Given the description of an element on the screen output the (x, y) to click on. 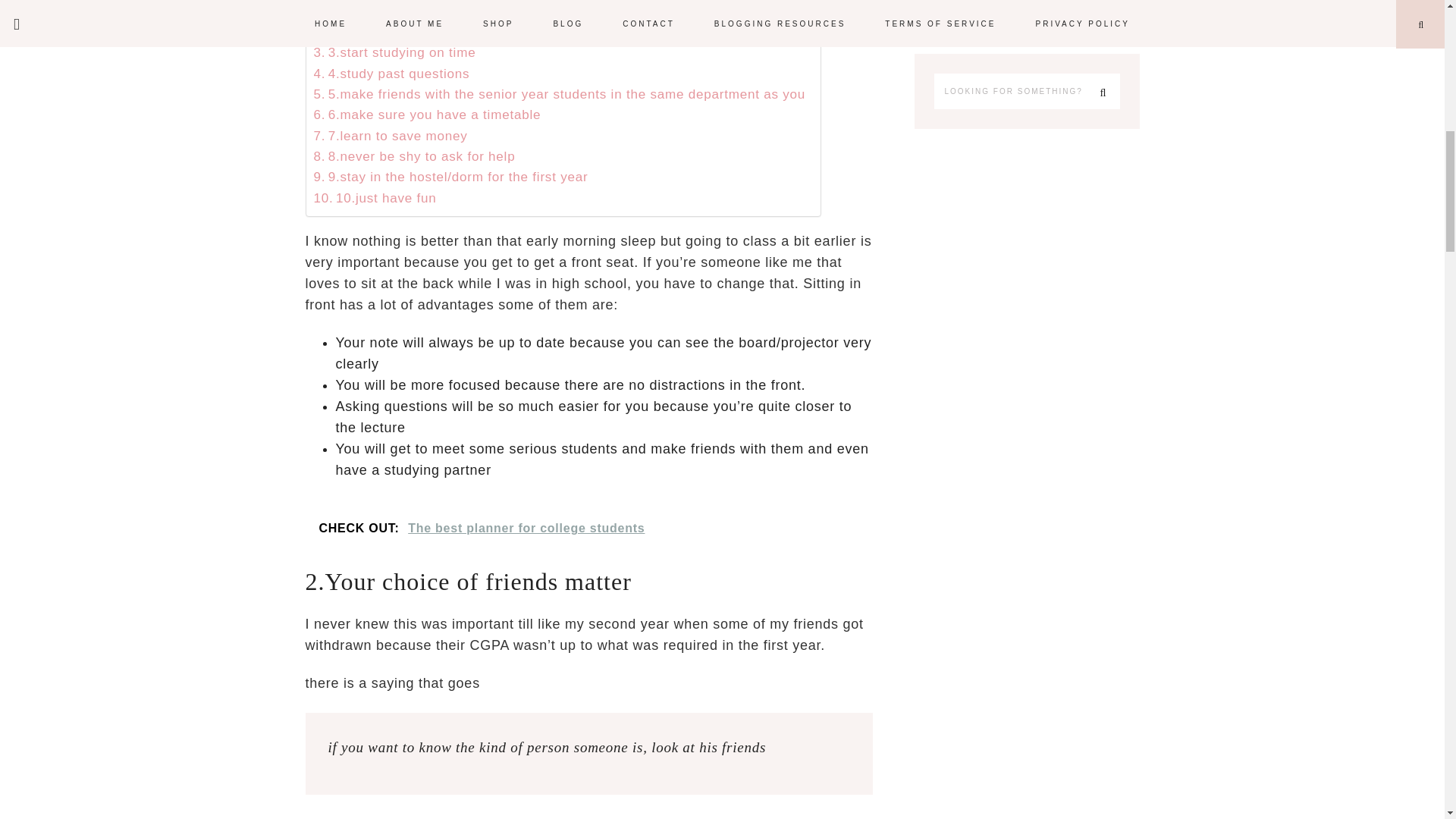
4.study past questions  (394, 73)
3.start studying on time (395, 52)
3.start studying on time (395, 52)
1. Going to class early and always is very important  (486, 10)
2.Your choice of friends matter  (419, 32)
